Given the description of an element on the screen output the (x, y) to click on. 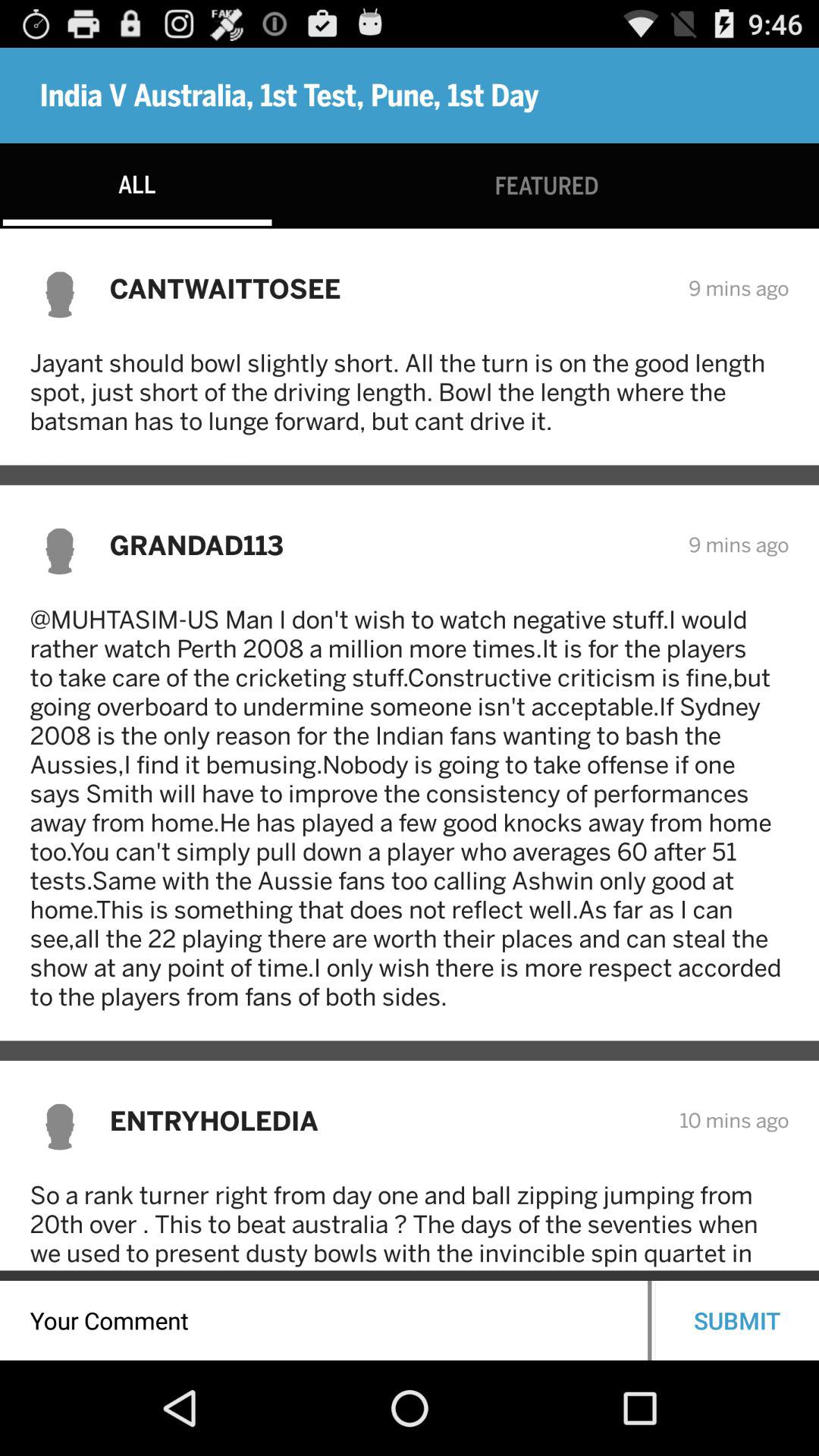
tap icon above the muhtasim us man item (388, 544)
